Given the description of an element on the screen output the (x, y) to click on. 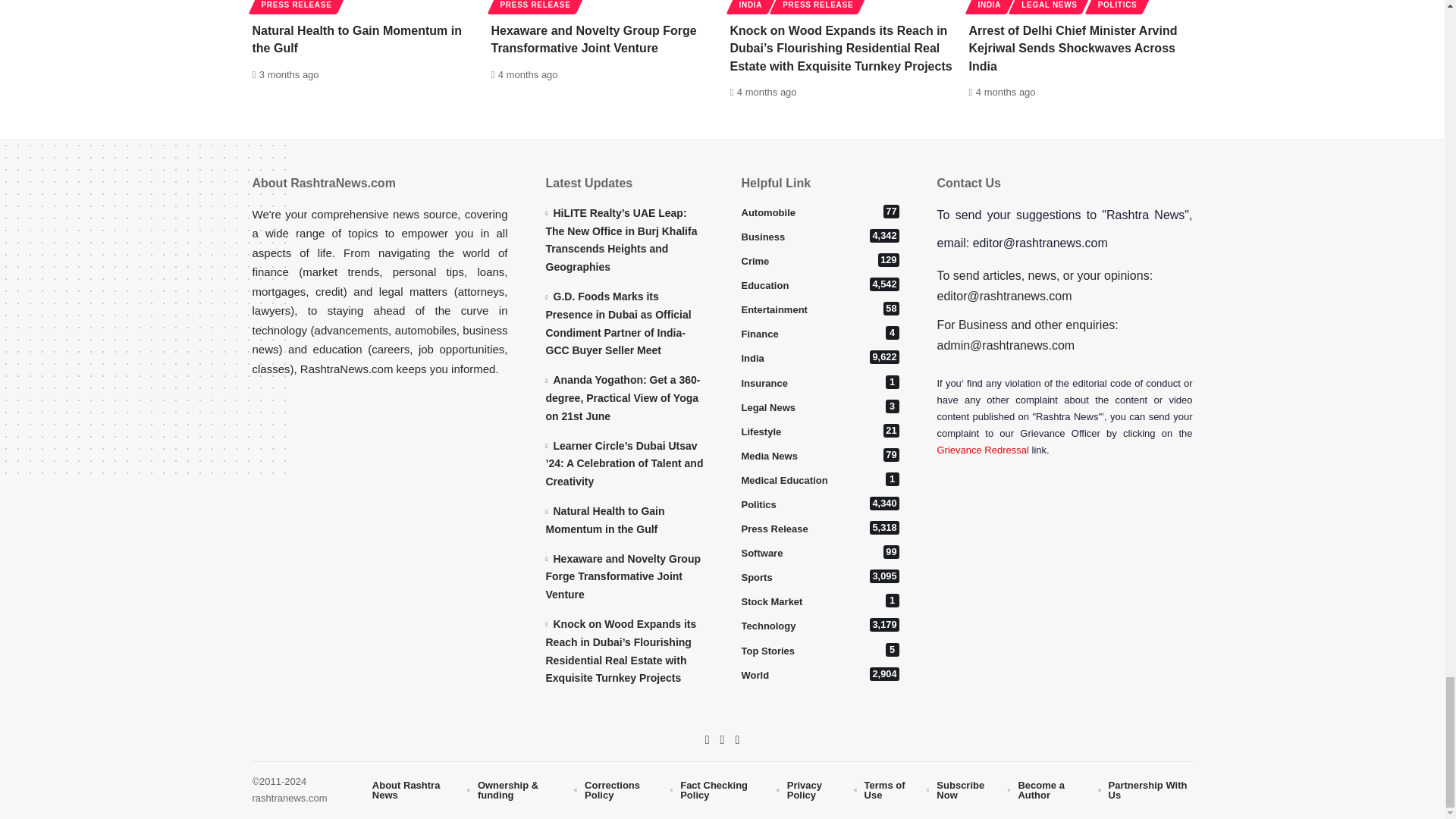
Natural Health to Gain Momentum in the Gulf (363, 4)
